Given the description of an element on the screen output the (x, y) to click on. 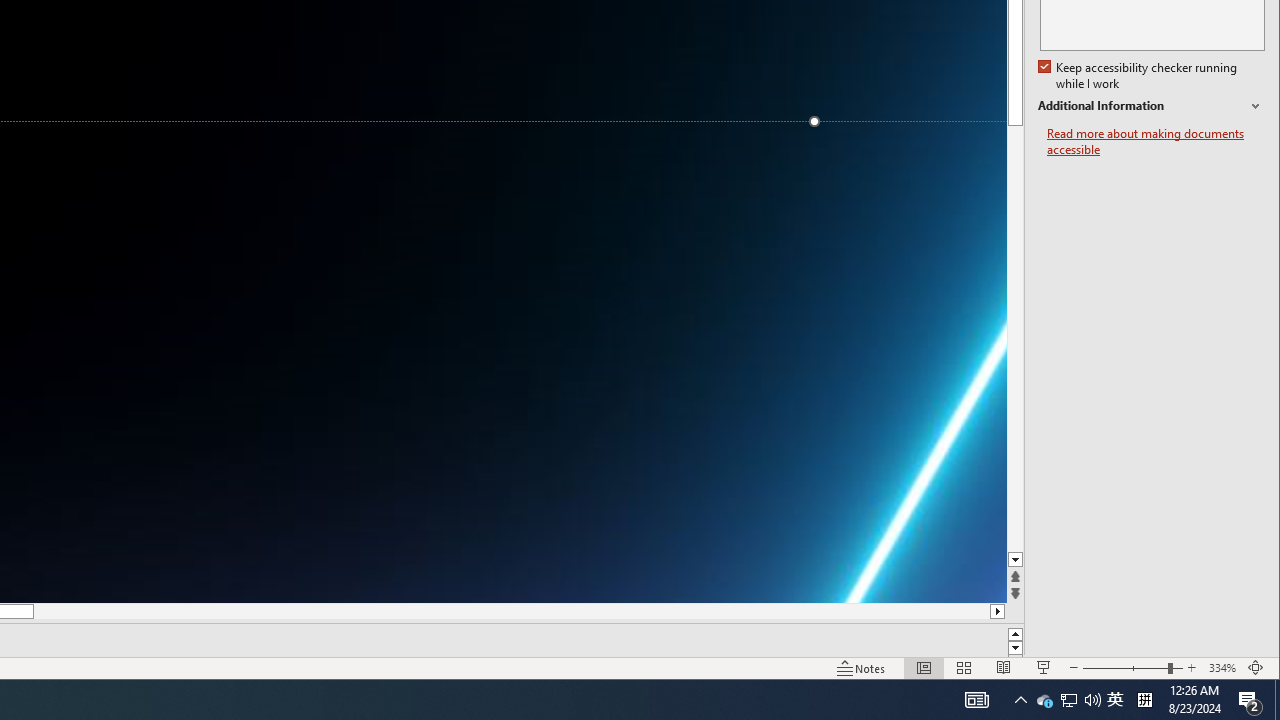
Action Center, 2 new notifications (1250, 699)
Show desktop (1277, 699)
Page down (1015, 342)
Additional Information (1151, 106)
Tray Input Indicator - Chinese (Simplified, China) (1144, 699)
AutomationID: 4105 (976, 699)
Read more about making documents accessible (1155, 142)
Keep accessibility checker running while I work (1044, 699)
